Given the description of an element on the screen output the (x, y) to click on. 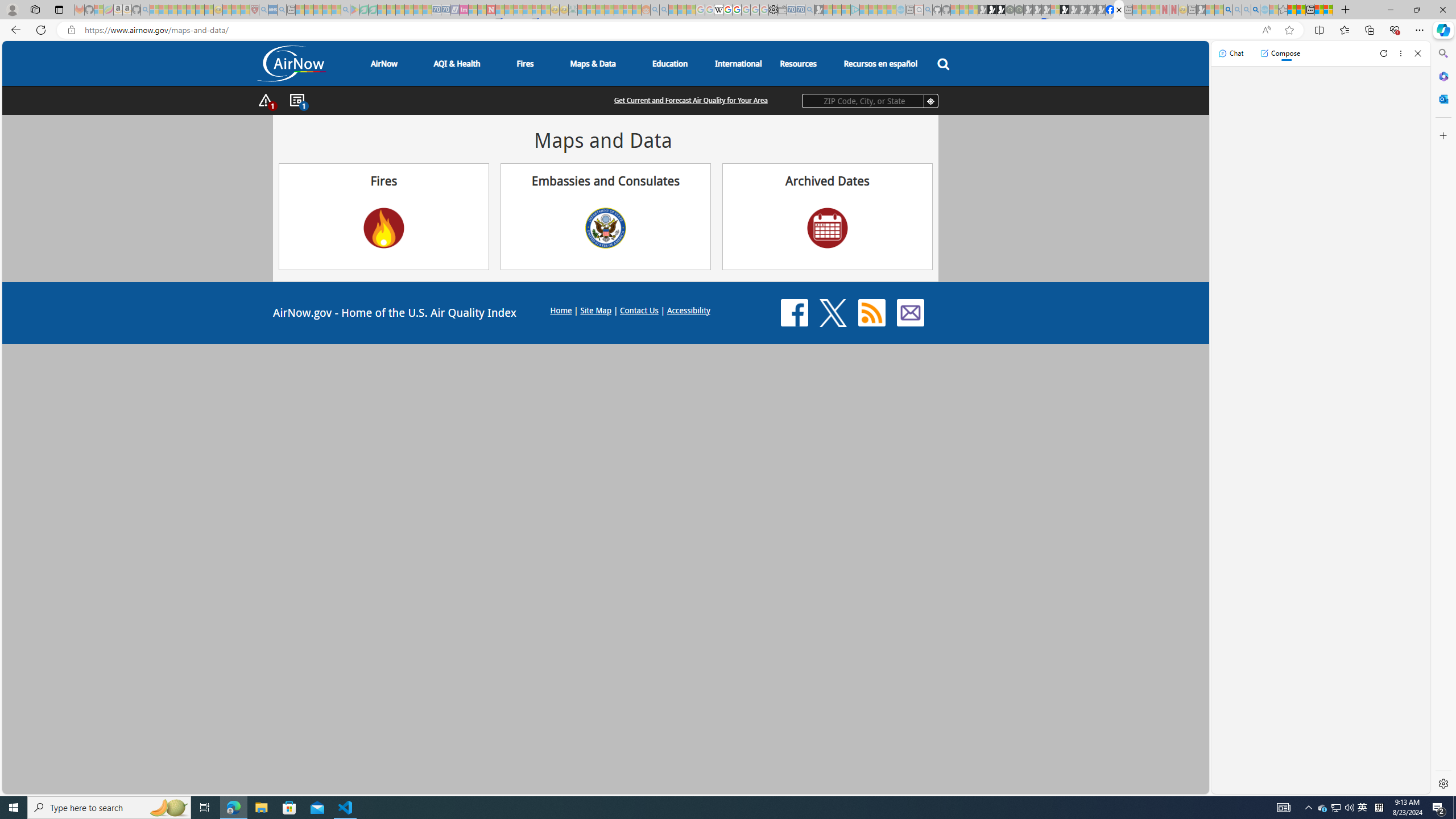
Aberdeen, Hong Kong SAR weather forecast | Microsoft Weather (1300, 9)
RSS (871, 312)
